Given the description of an element on the screen output the (x, y) to click on. 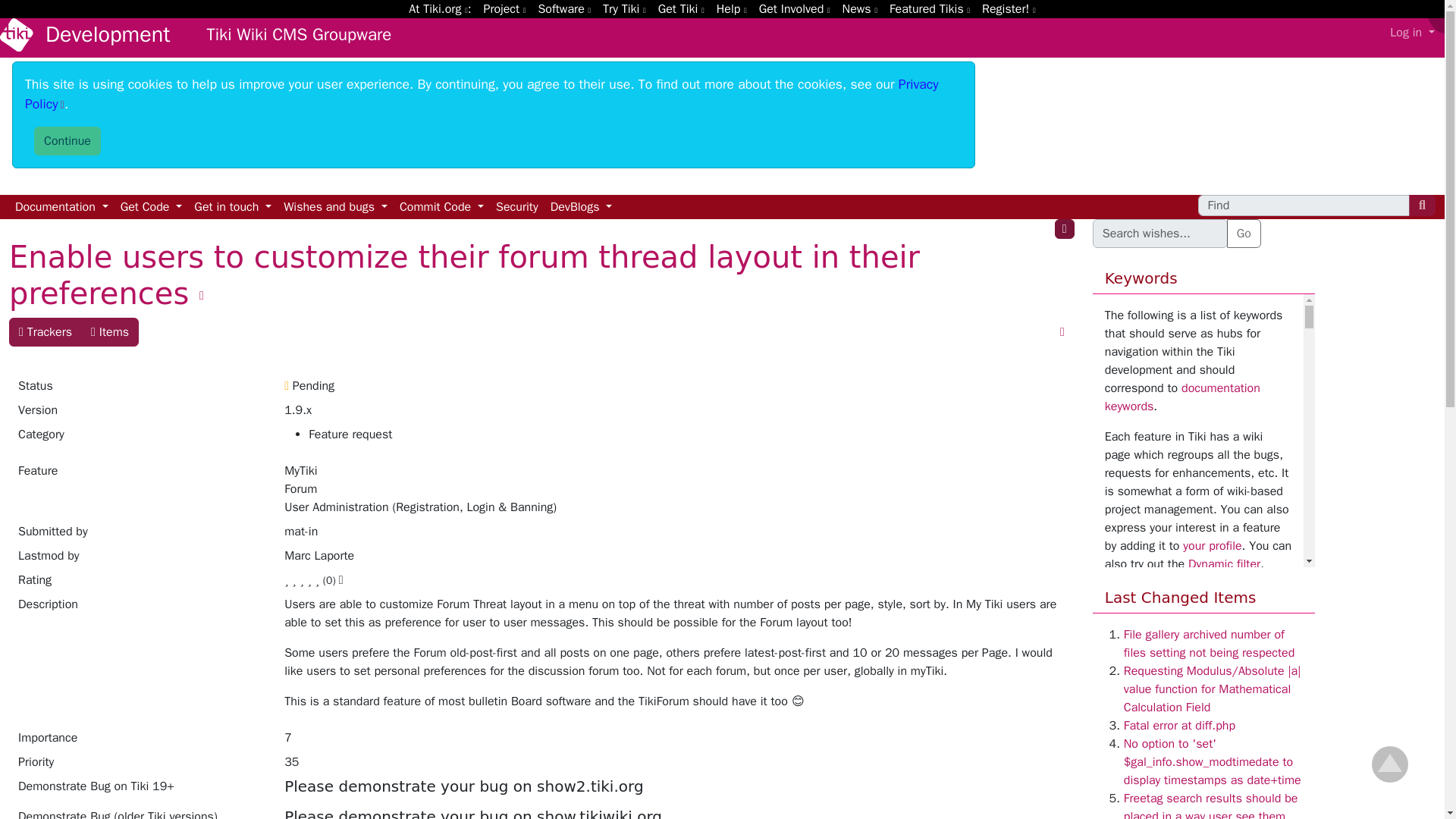
DevBlogs (581, 206)
External link (481, 94)
Get Code (152, 206)
Toggle right modules (1064, 229)
Lastmod by (141, 558)
Rating (141, 582)
Version (141, 413)
Status (141, 388)
Submitted by (141, 534)
Wishes and bugs (335, 206)
